Given the description of an element on the screen output the (x, y) to click on. 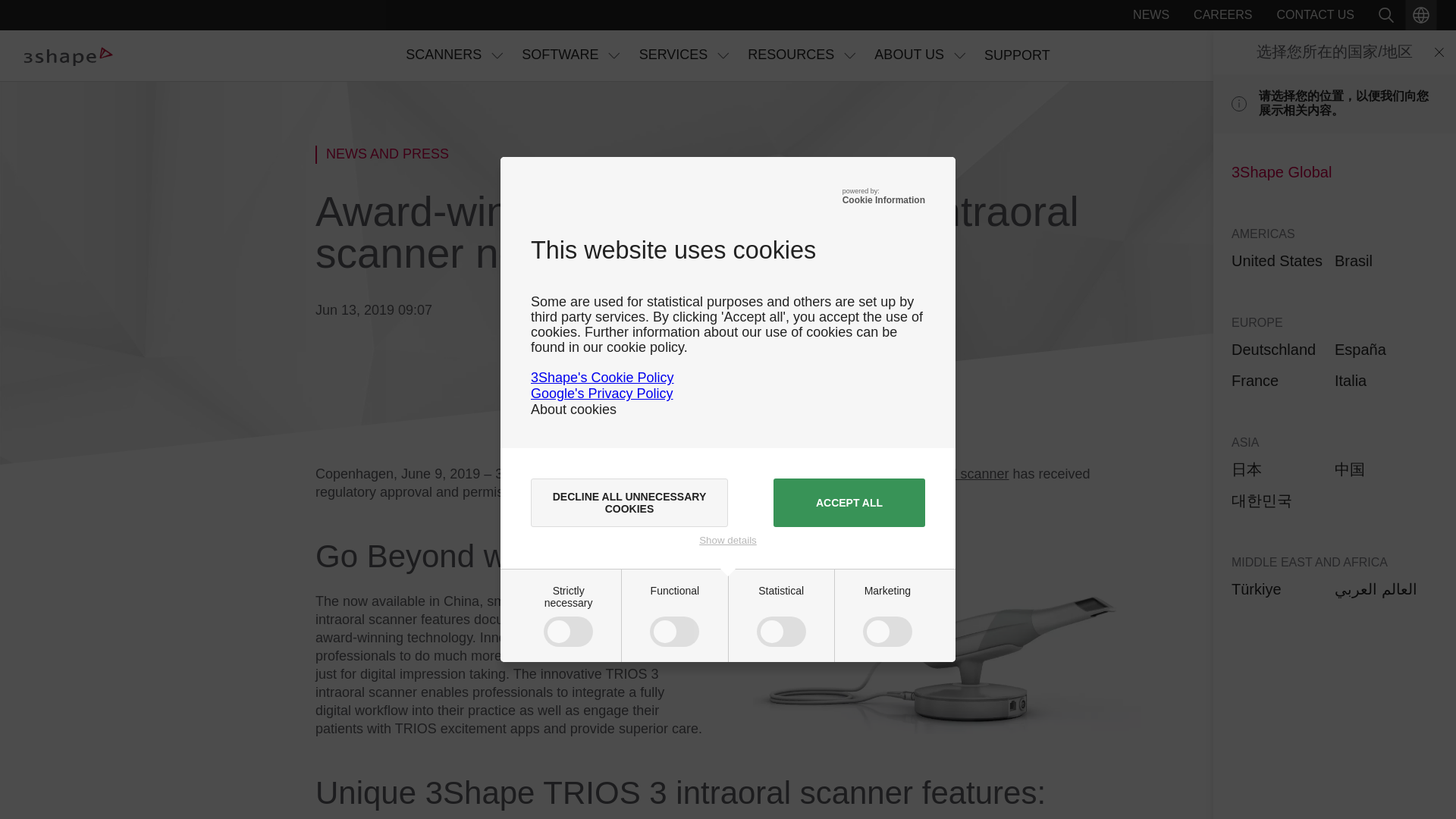
ACCEPT ALL (848, 502)
Google's Privacy Policy (601, 393)
DECLINE ALL UNNECESSARY COOKIES (629, 502)
Cookie Information (883, 199)
About cookies (573, 409)
3Shape's Cookie Policy (602, 377)
Show details (727, 540)
